Given the description of an element on the screen output the (x, y) to click on. 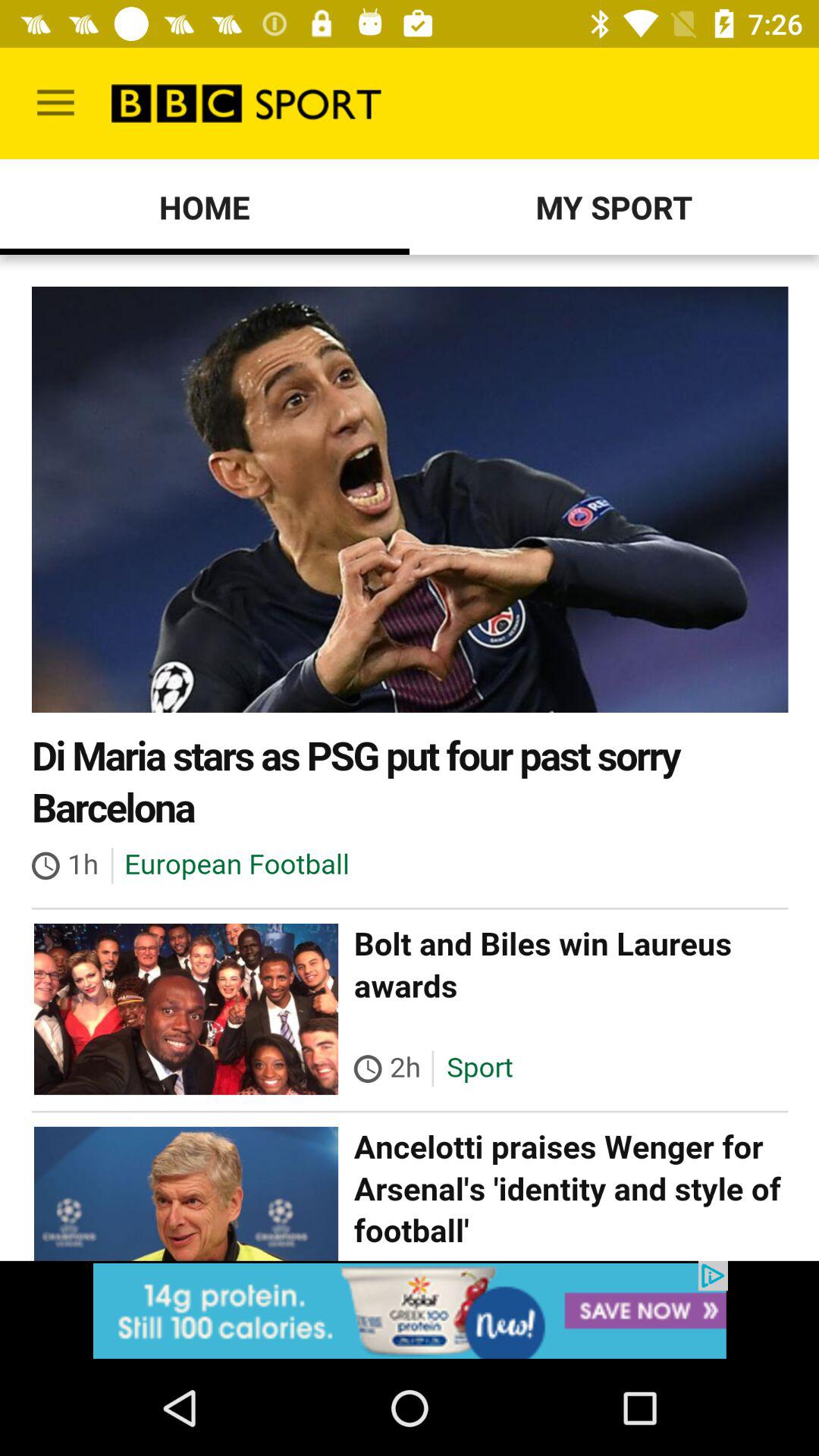
open advertisement (409, 1310)
